Given the description of an element on the screen output the (x, y) to click on. 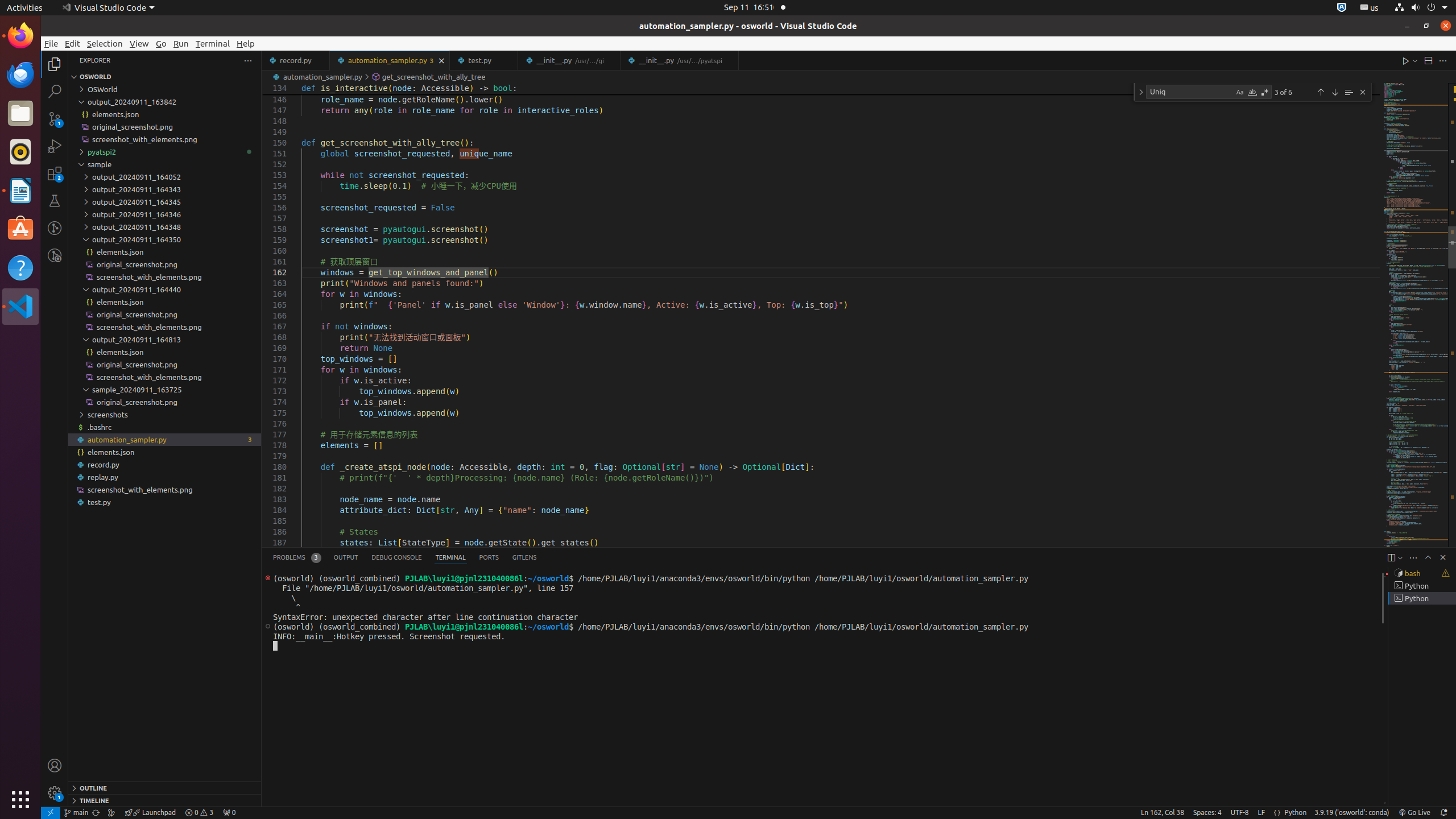
Go Element type: push-button (161, 43)
Selection Element type: push-button (104, 43)
Terminal 5 Python Element type: list-item (1422, 598)
Toggle Replace Element type: push-button (1140, 92)
